Given the description of an element on the screen output the (x, y) to click on. 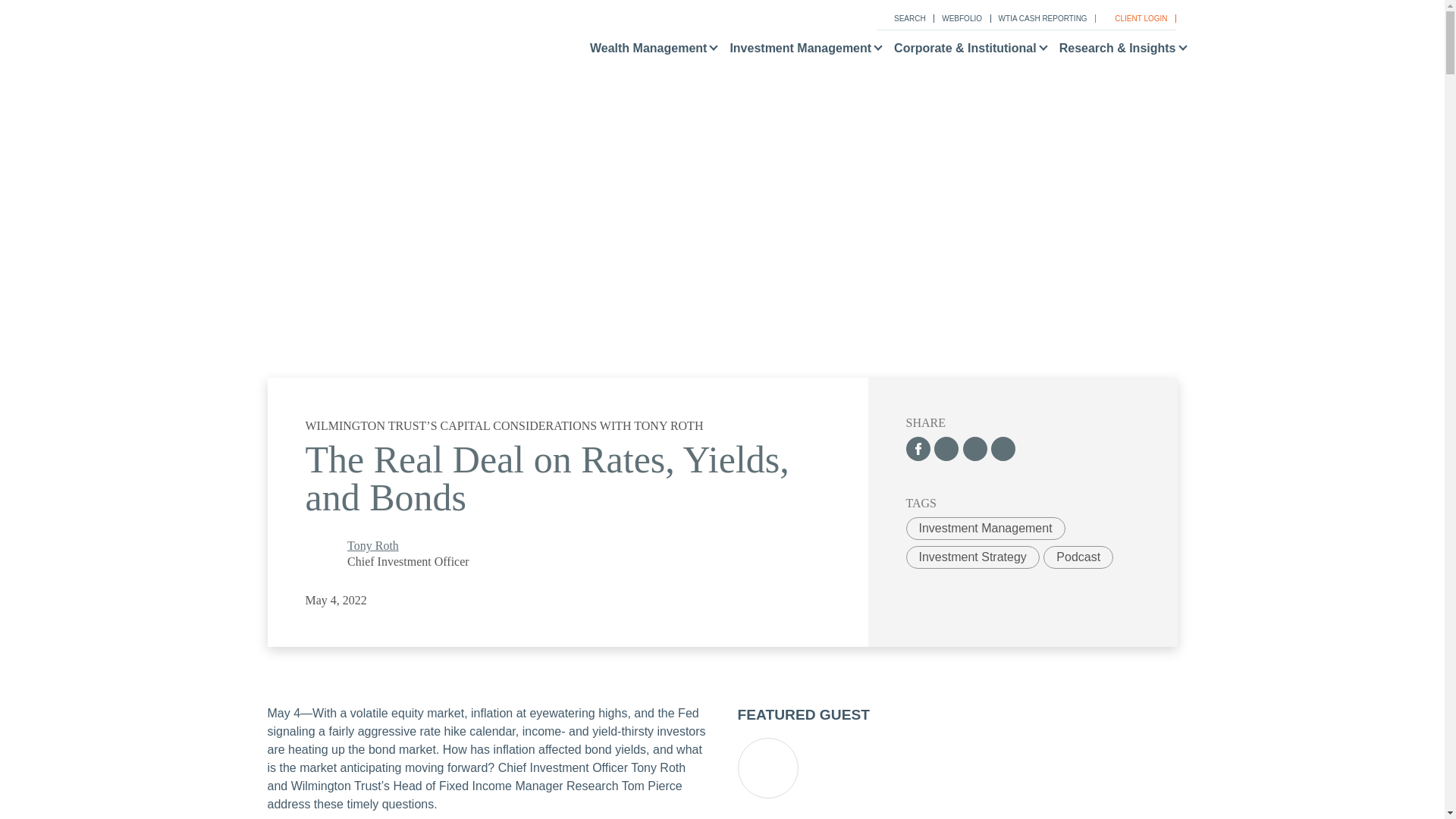
WTIA CASH REPORTING (1040, 18)
Investment Management (799, 51)
WEBFOLIO (959, 18)
CLIENT LOGIN (1134, 18)
Wilmington Trust Logo (347, 48)
Wilmington Trust Logo (359, 42)
Wealth Management (647, 51)
SEARCH (902, 18)
